Given the description of an element on the screen output the (x, y) to click on. 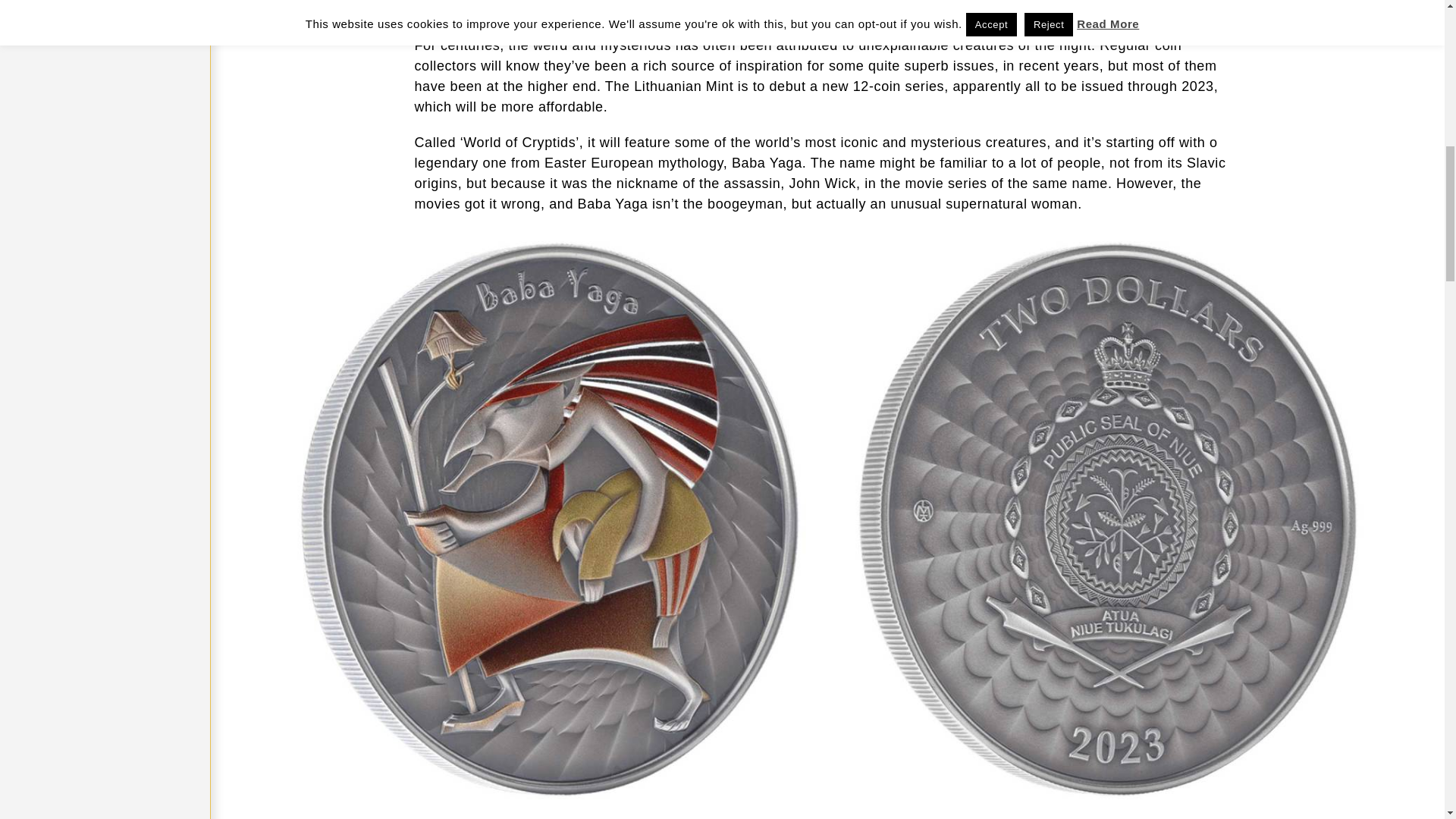
2023-LIT-Cryptid-Baba-Yaga-OBV (1107, 247)
2023-LIT-Cryptid-Baba-Yaga-REV (548, 247)
